Given the description of an element on the screen output the (x, y) to click on. 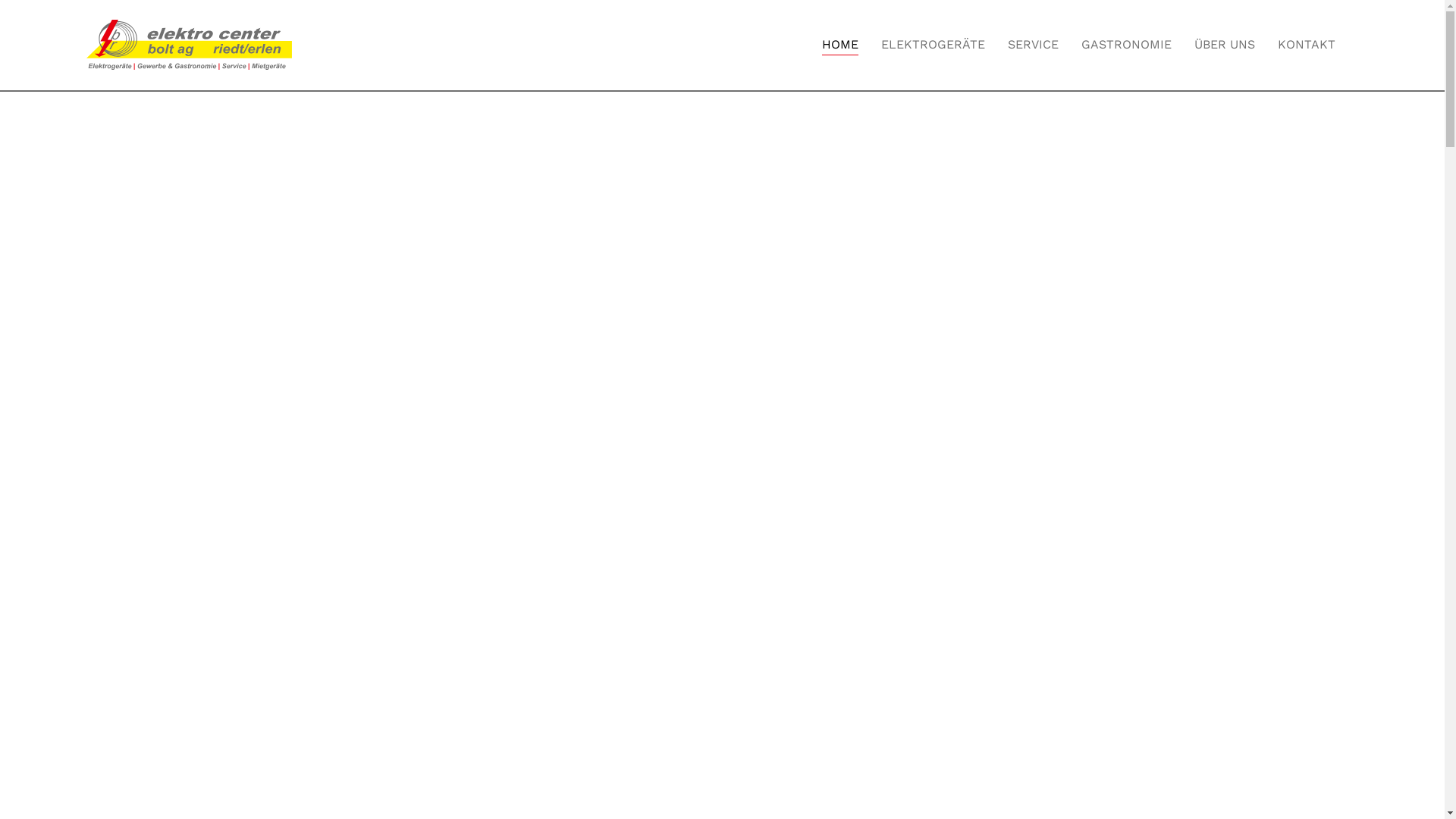
KONTAKT Element type: text (1306, 44)
SERVICE Element type: text (1032, 44)
HOME Element type: text (840, 44)
GASTRONOMIE Element type: text (1126, 44)
